Given the description of an element on the screen output the (x, y) to click on. 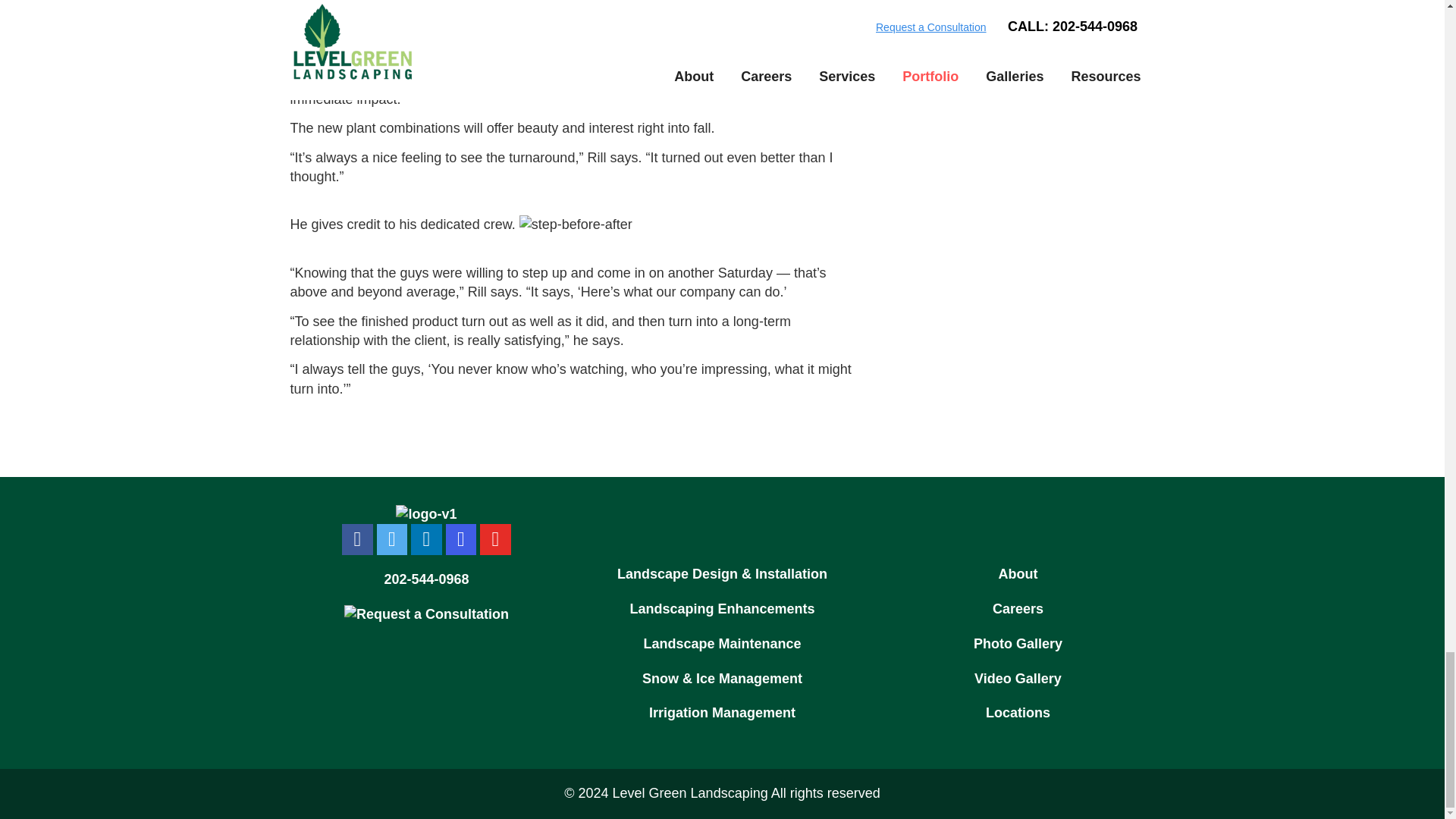
logo-v1 (426, 514)
